Given the description of an element on the screen output the (x, y) to click on. 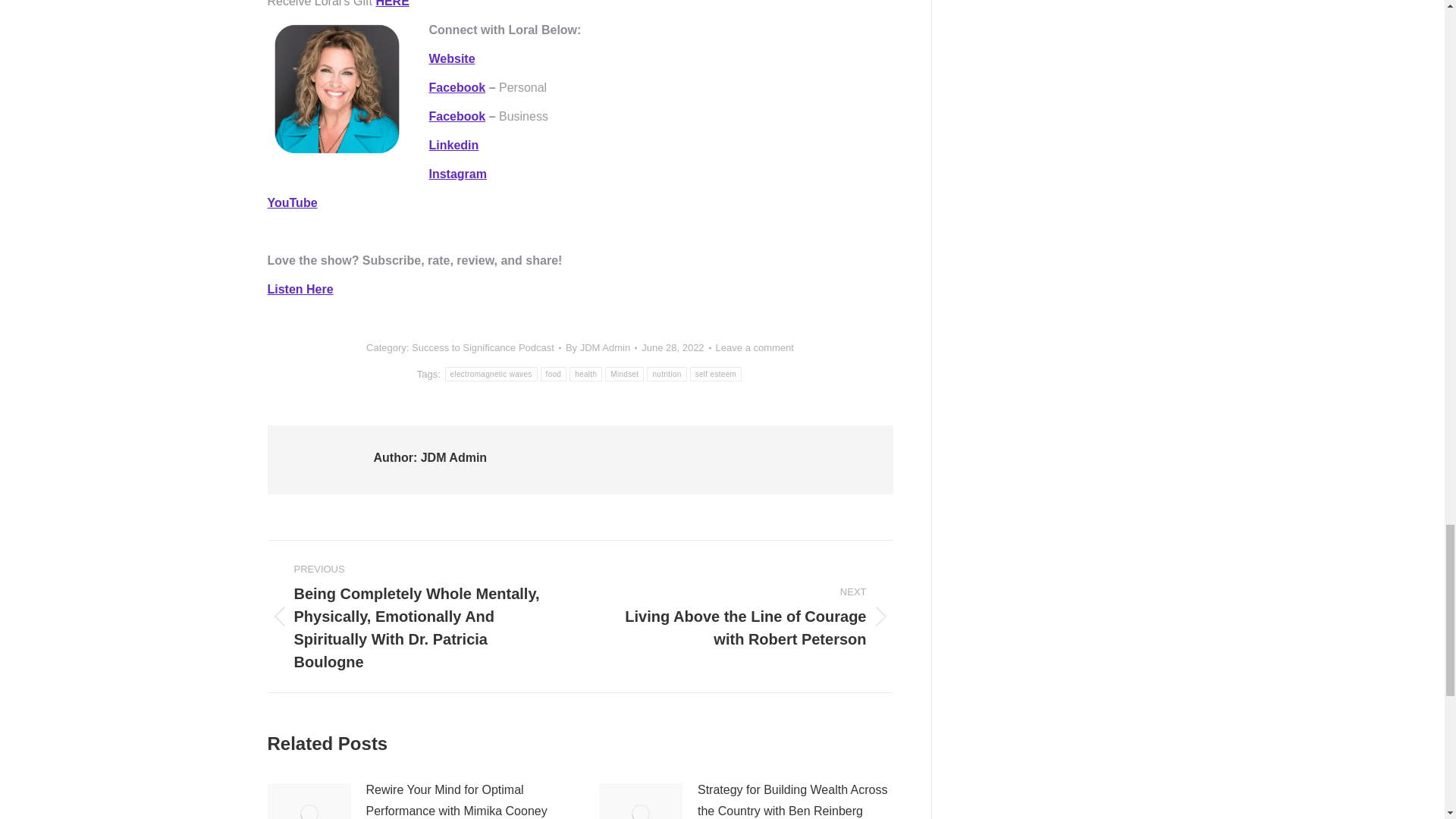
food (553, 373)
Linkedin (454, 144)
June 28, 2022 (676, 347)
View all posts by JDM Admin (601, 347)
electromagnetic waves (491, 373)
Instagram (457, 173)
Website (452, 58)
YouTube (291, 202)
HERE (392, 3)
By JDM Admin (601, 347)
Listen Here (299, 288)
Leave a comment (754, 347)
health (585, 373)
Facebook (457, 115)
Facebook (457, 87)
